Given the description of an element on the screen output the (x, y) to click on. 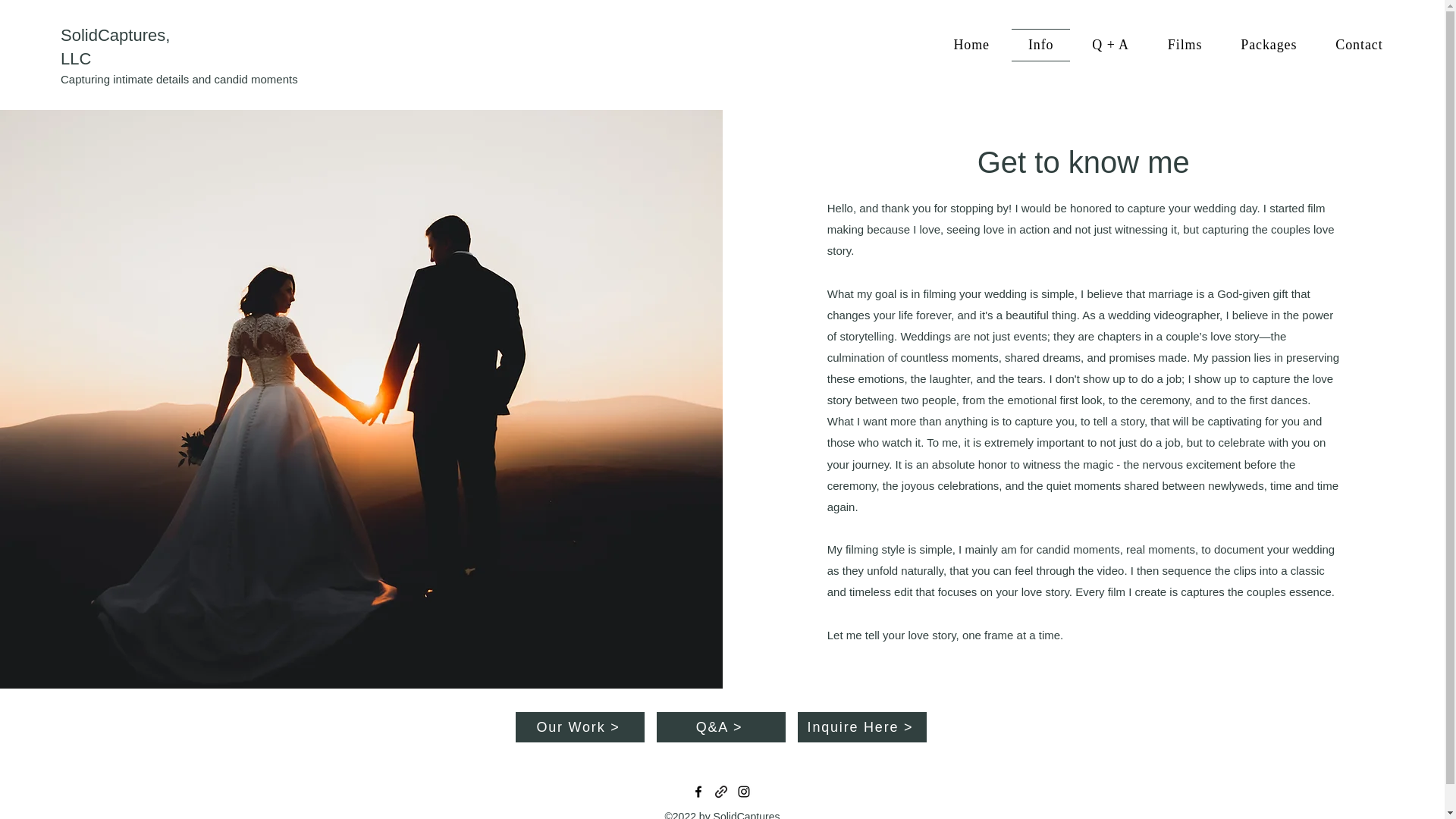
Contact (1359, 44)
Films (921, 65)
Home (971, 44)
Contact (990, 65)
Info (1039, 44)
Packages (1268, 44)
Home (783, 65)
Info (851, 65)
Films (1184, 44)
